Given the description of an element on the screen output the (x, y) to click on. 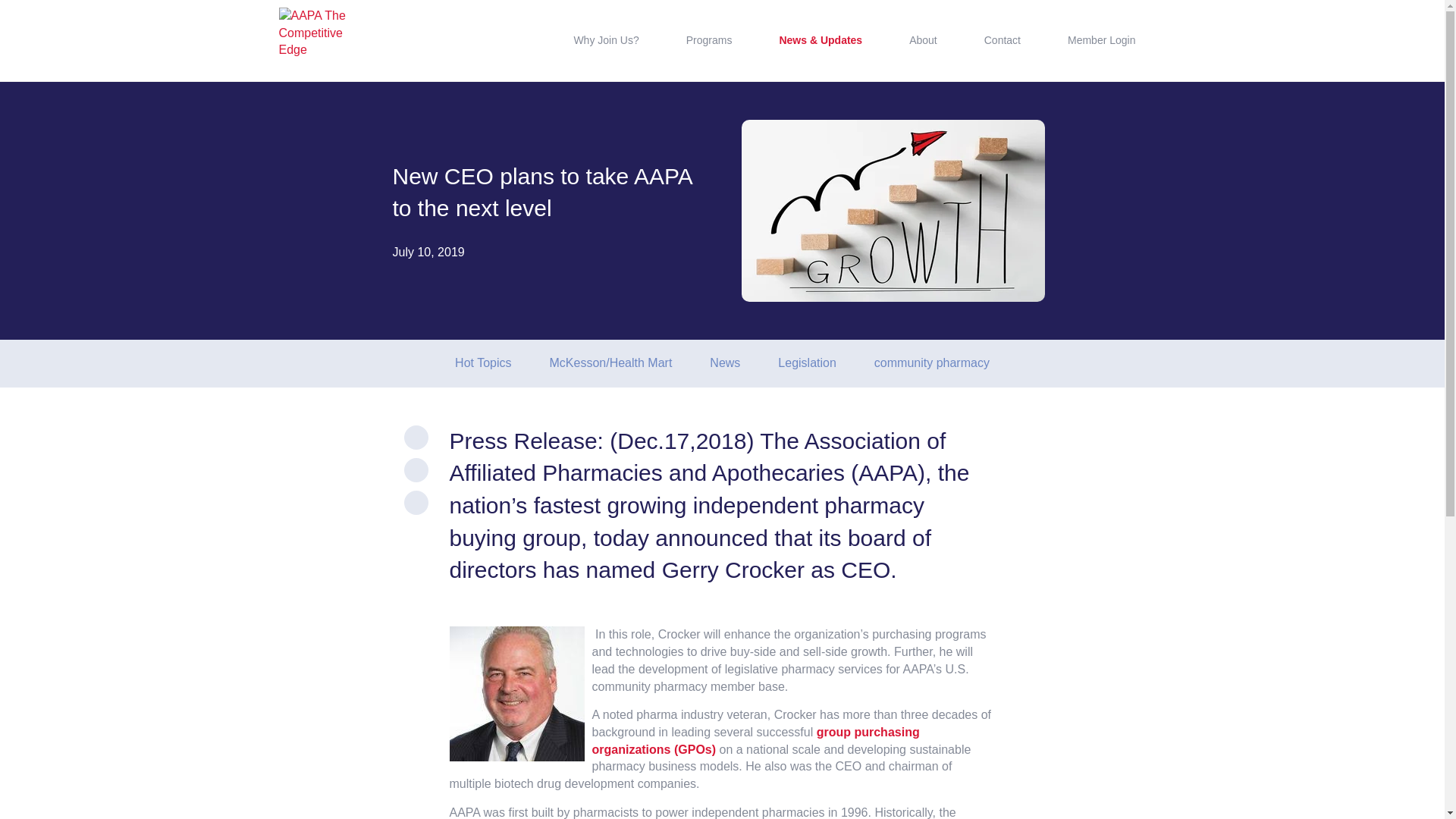
News (724, 363)
community pharmacy (932, 363)
Member Login (1101, 40)
Share on Facebook (415, 469)
Why Join Us? (606, 40)
Legislation (807, 363)
Share via Email (415, 502)
Programs (708, 40)
About (922, 40)
Share on Twitter (415, 437)
